Given the description of an element on the screen output the (x, y) to click on. 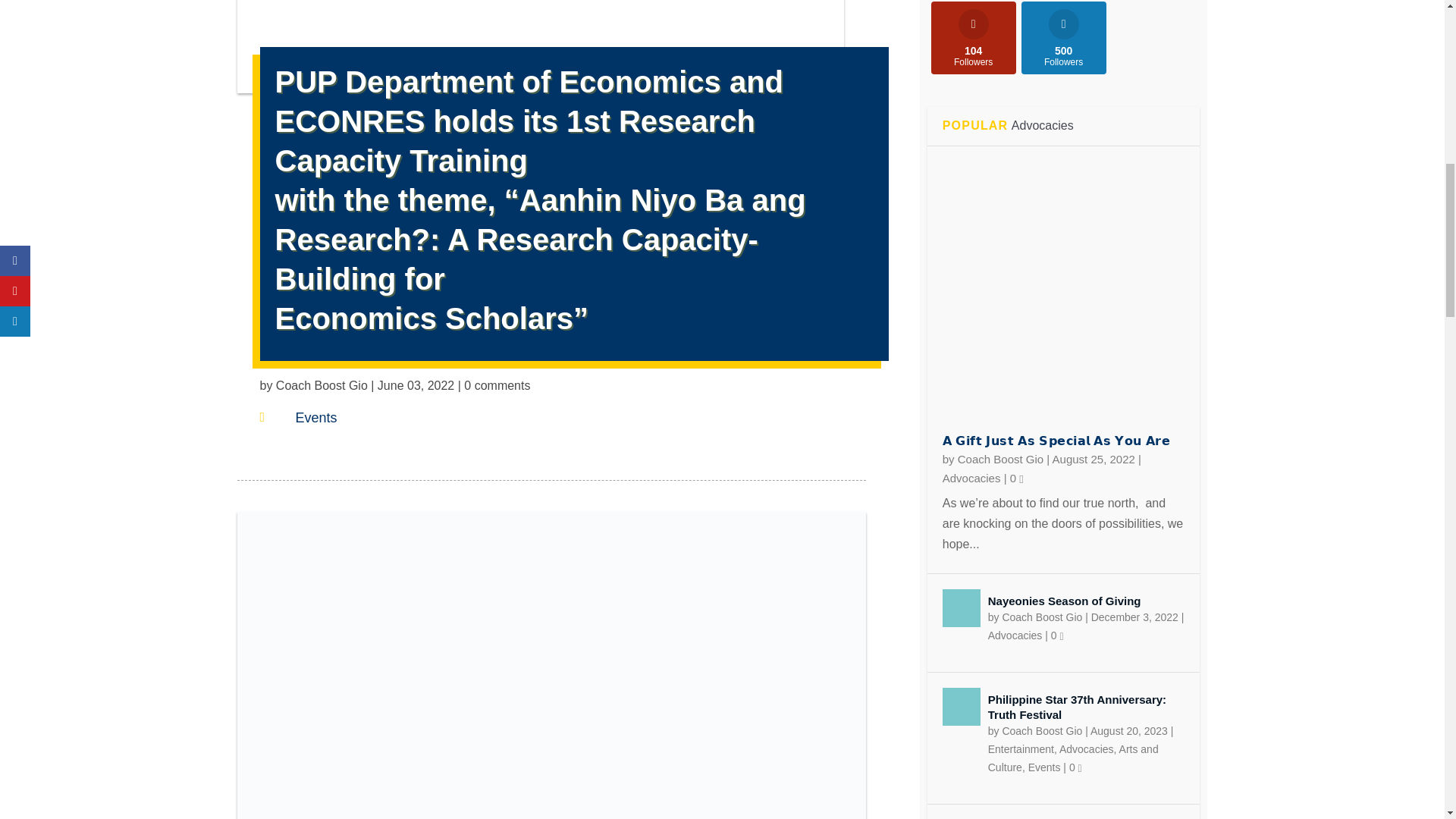
Posts by Coach Boost Gio (1000, 459)
comment count (1021, 479)
Posts by Coach Boost Gio (322, 385)
